Given the description of an element on the screen output the (x, y) to click on. 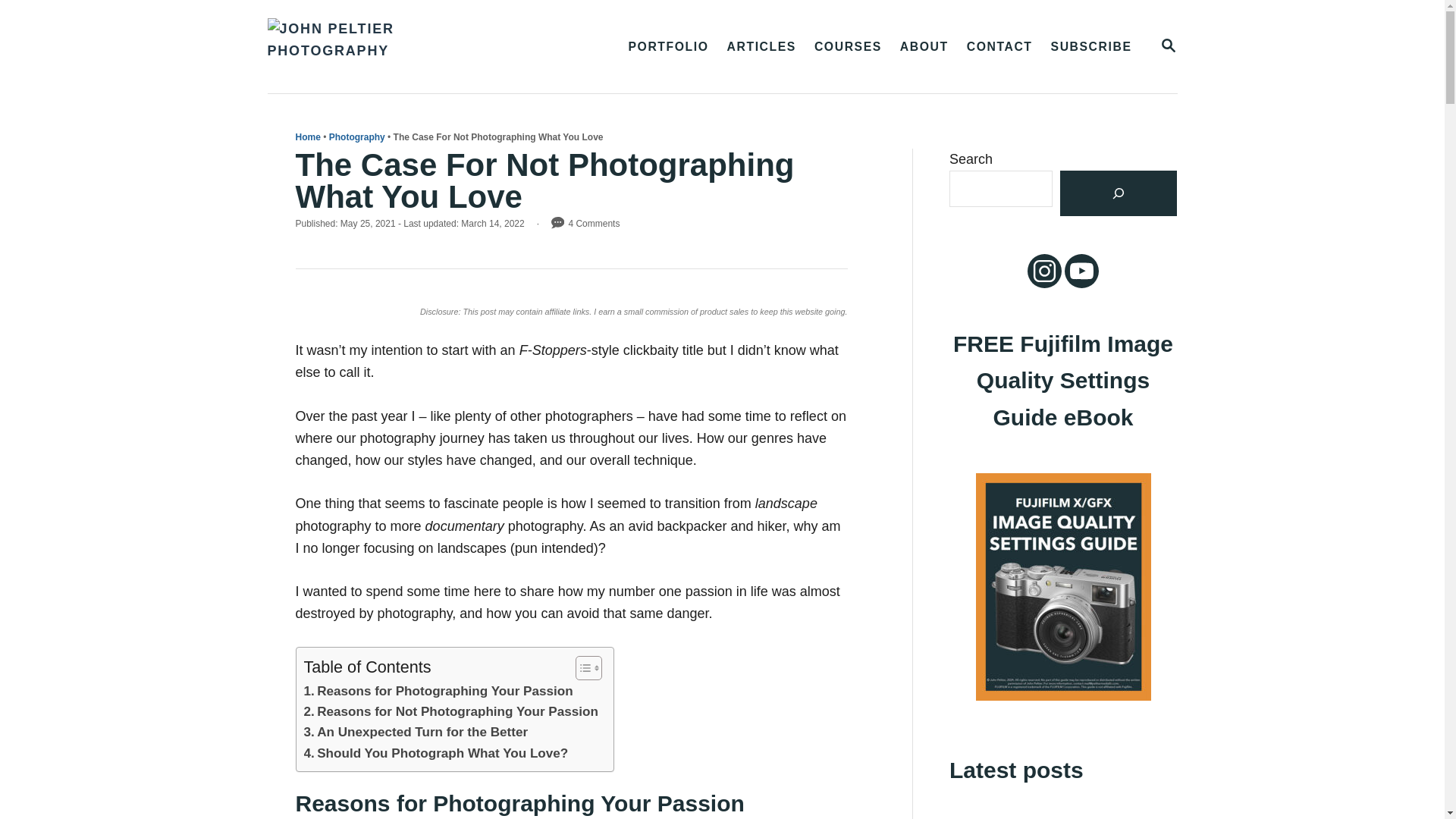
ABOUT (924, 46)
MAGNIFYING GLASS (1167, 45)
PORTFOLIO (667, 46)
Reasons for Not Photographing Your Passion (449, 711)
COURSES (848, 46)
Youtube Channel (1081, 270)
SUBSCRIBE (1167, 46)
ARTICLES (1091, 46)
Instagram (761, 46)
